Given the description of an element on the screen output the (x, y) to click on. 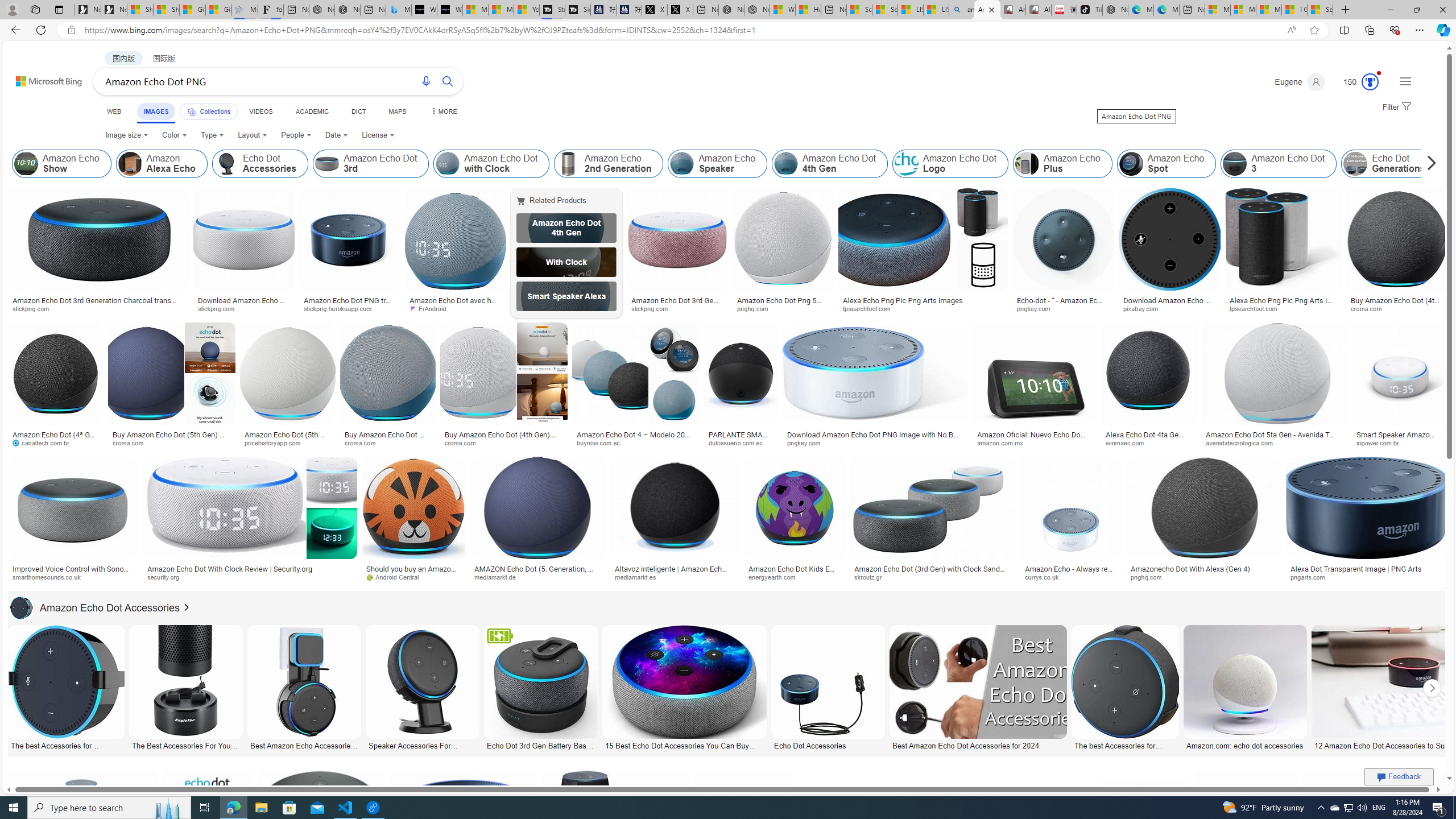
Class: medal-svg-animation (1369, 81)
canaltech.com.br (56, 442)
Amazon Echo Dot 3rd (371, 163)
Class: item col (1388, 163)
pngarts.com (1311, 576)
Improved Voice Control with Sonos & Alexa Echo devices (72, 572)
Huge shark washes ashore at New York City beach | Watch (807, 9)
pnghq.com (1203, 576)
Amazonecho Dot With Alexa (Gen 4) (1203, 568)
croma.com (503, 442)
MAPS (397, 111)
Amazon Echo Dot PNG transparente - StickPNG (349, 303)
